Given the description of an element on the screen output the (x, y) to click on. 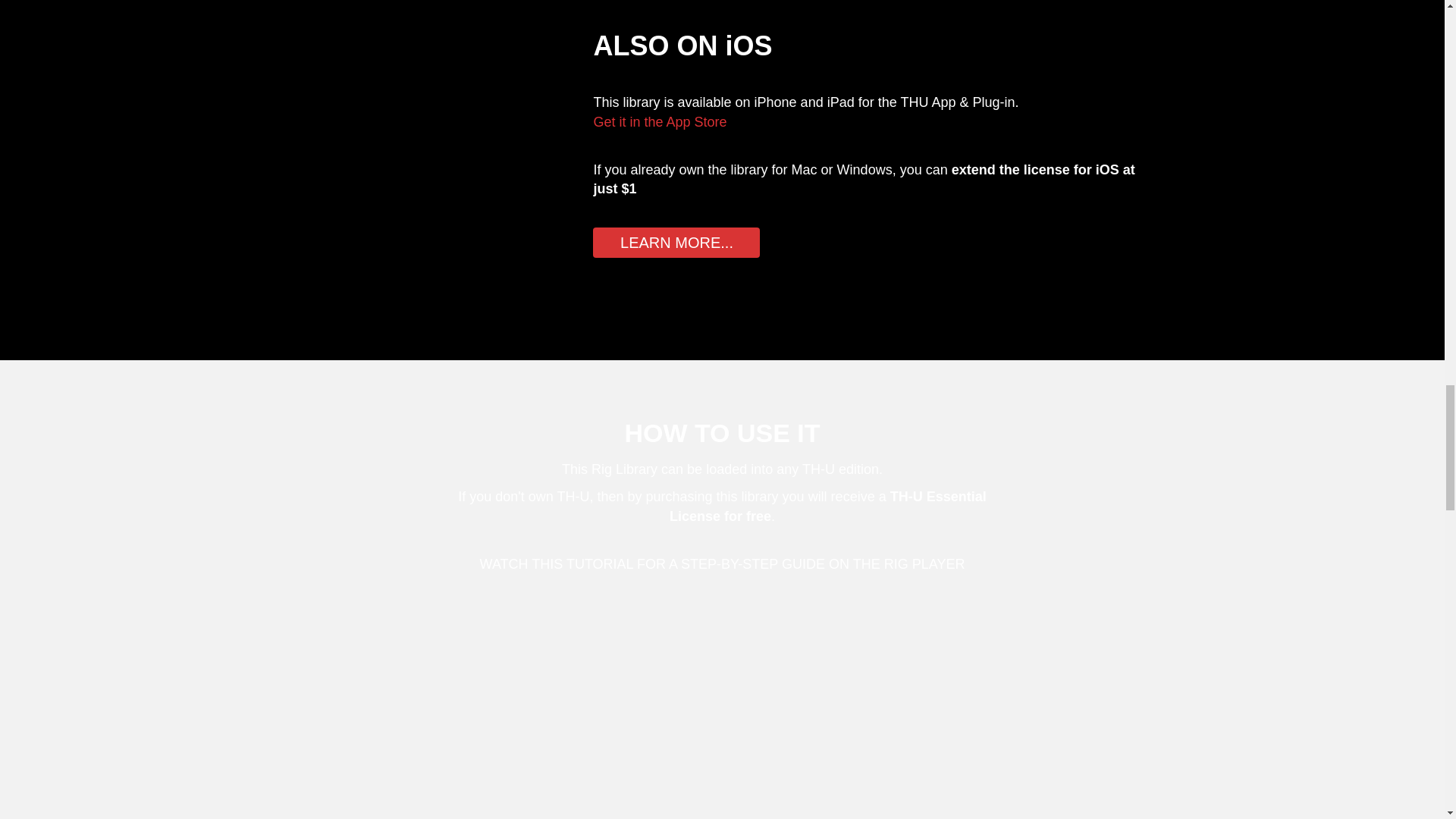
LEARN MORE... (676, 239)
YouTube video player (721, 710)
Get it in the App Store (659, 121)
